Given the description of an element on the screen output the (x, y) to click on. 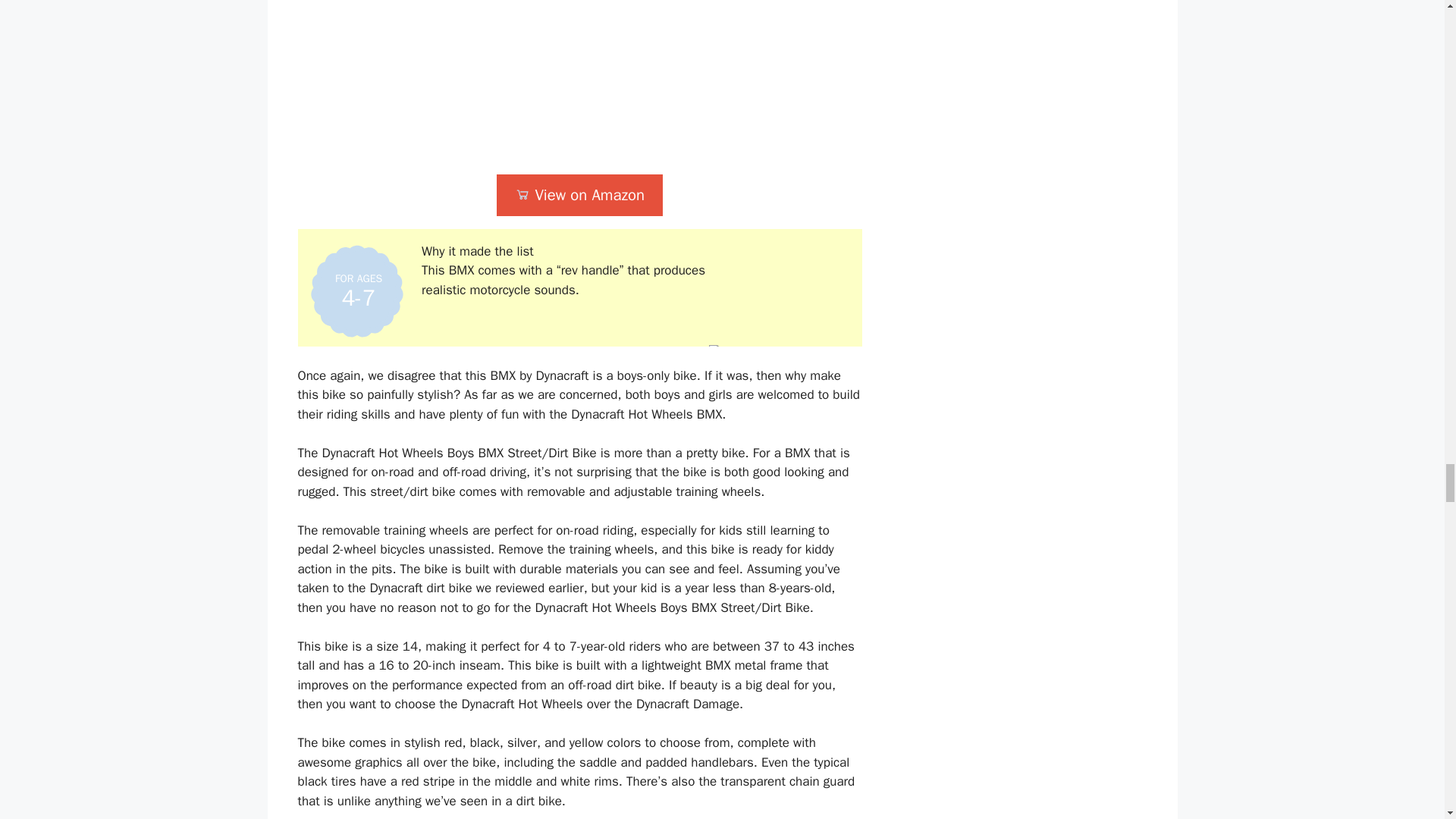
View on Amazon (579, 195)
